Given the description of an element on the screen output the (x, y) to click on. 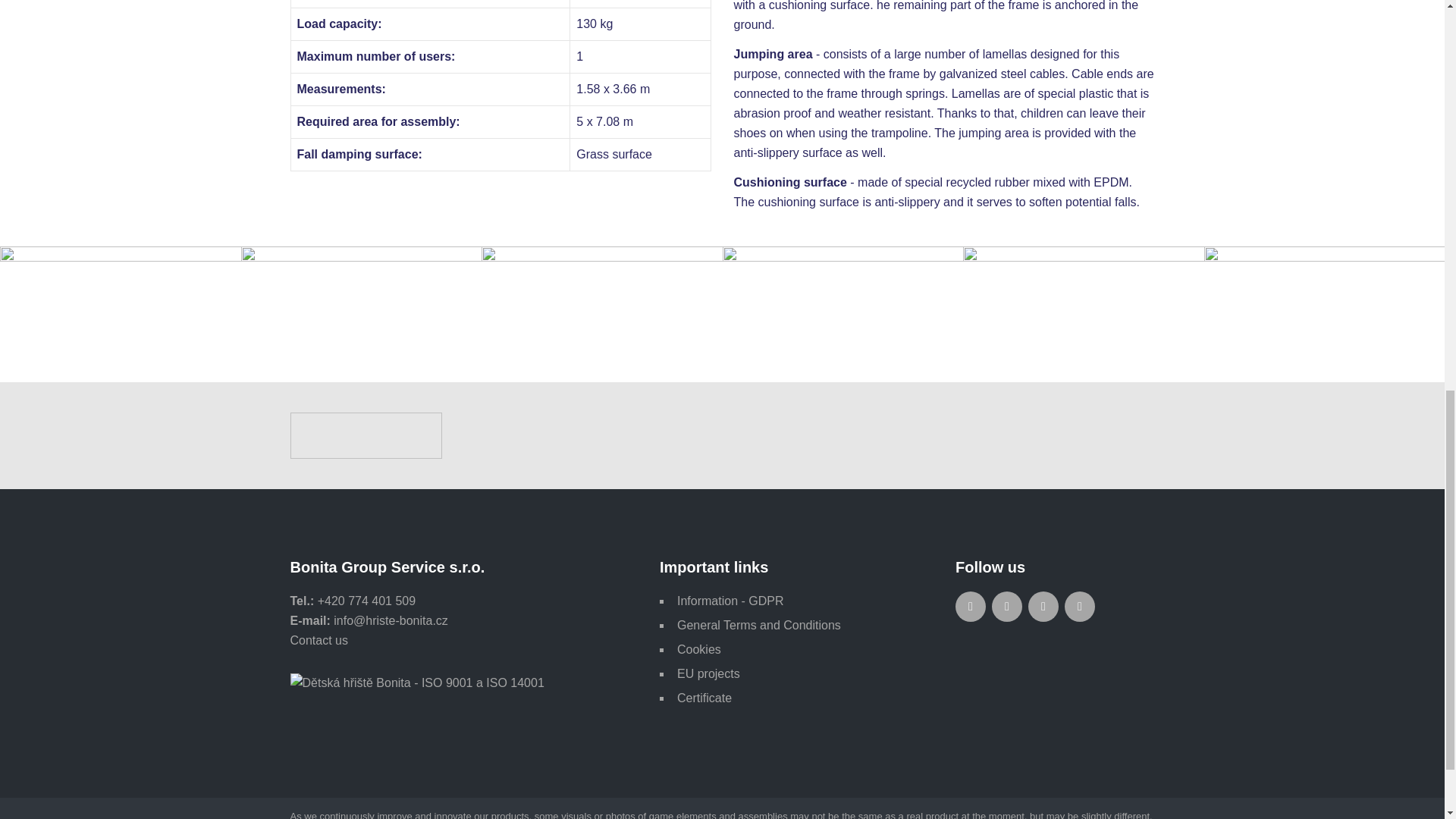
General Terms and Conditions (759, 625)
Information - GDPR (730, 600)
Contact us (318, 640)
Cookies (698, 649)
